Given the description of an element on the screen output the (x, y) to click on. 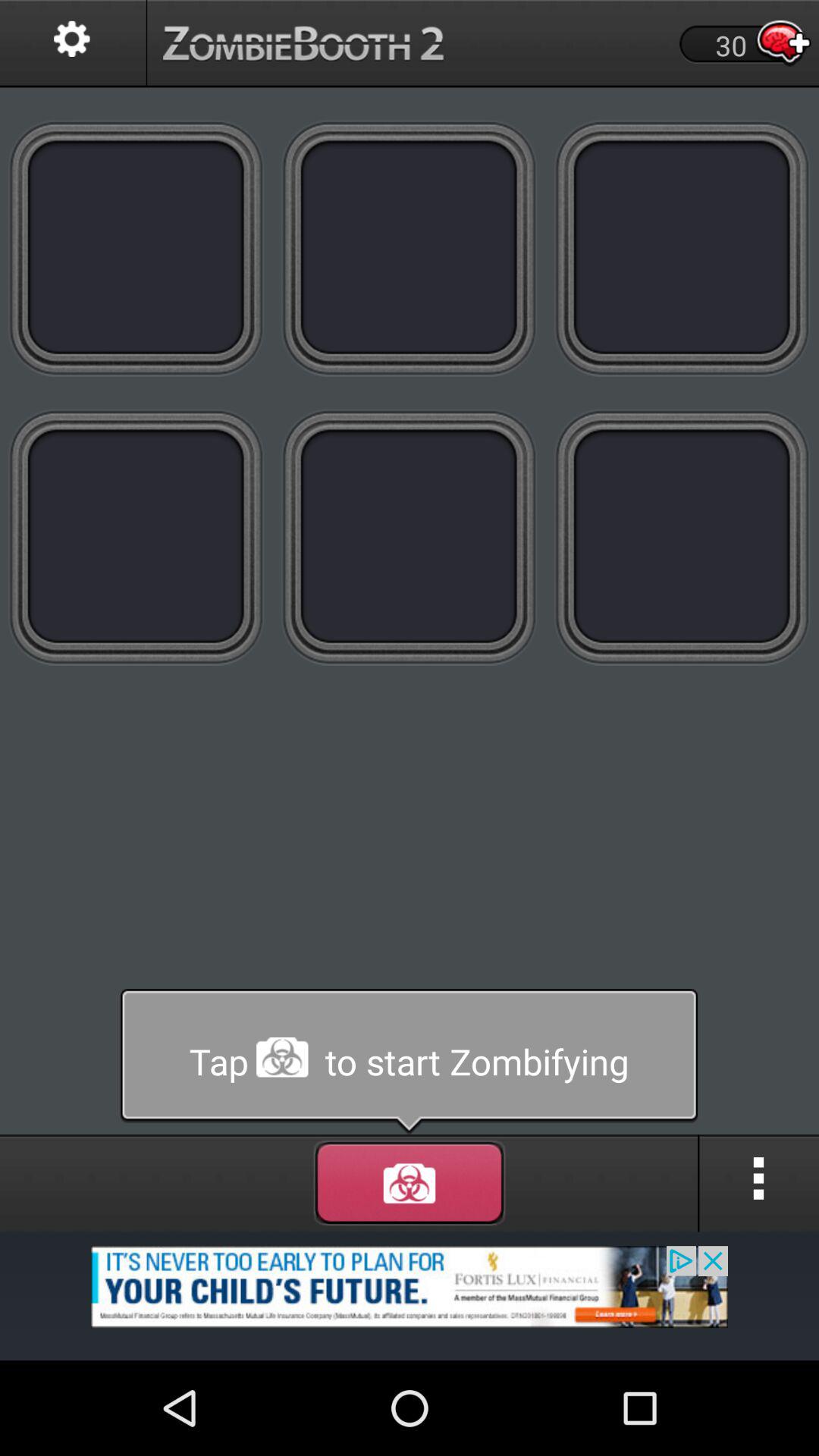
select button (136, 536)
